Given the description of an element on the screen output the (x, y) to click on. 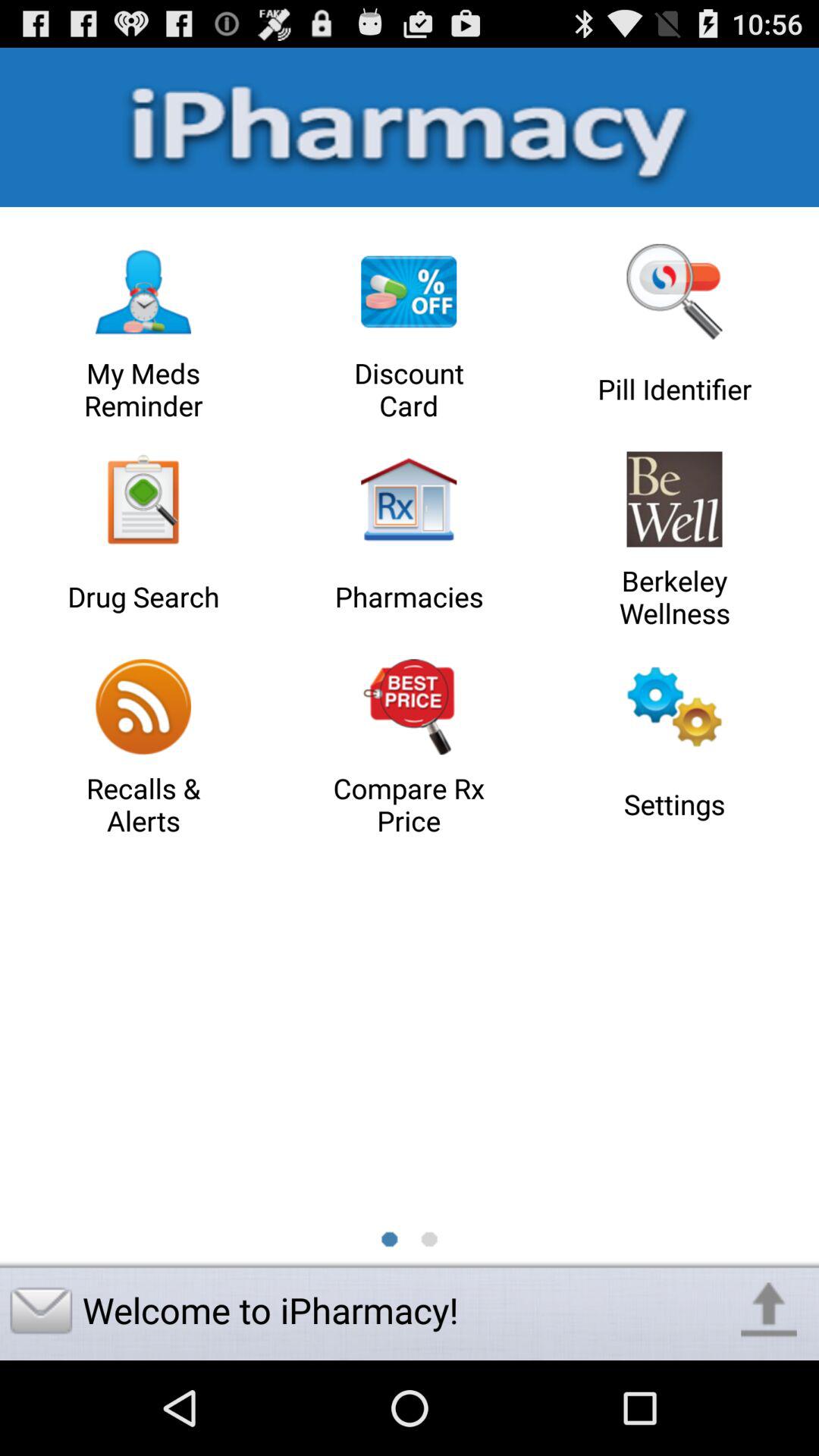
open the icon at the bottom right corner (768, 1310)
